Given the description of an element on the screen output the (x, y) to click on. 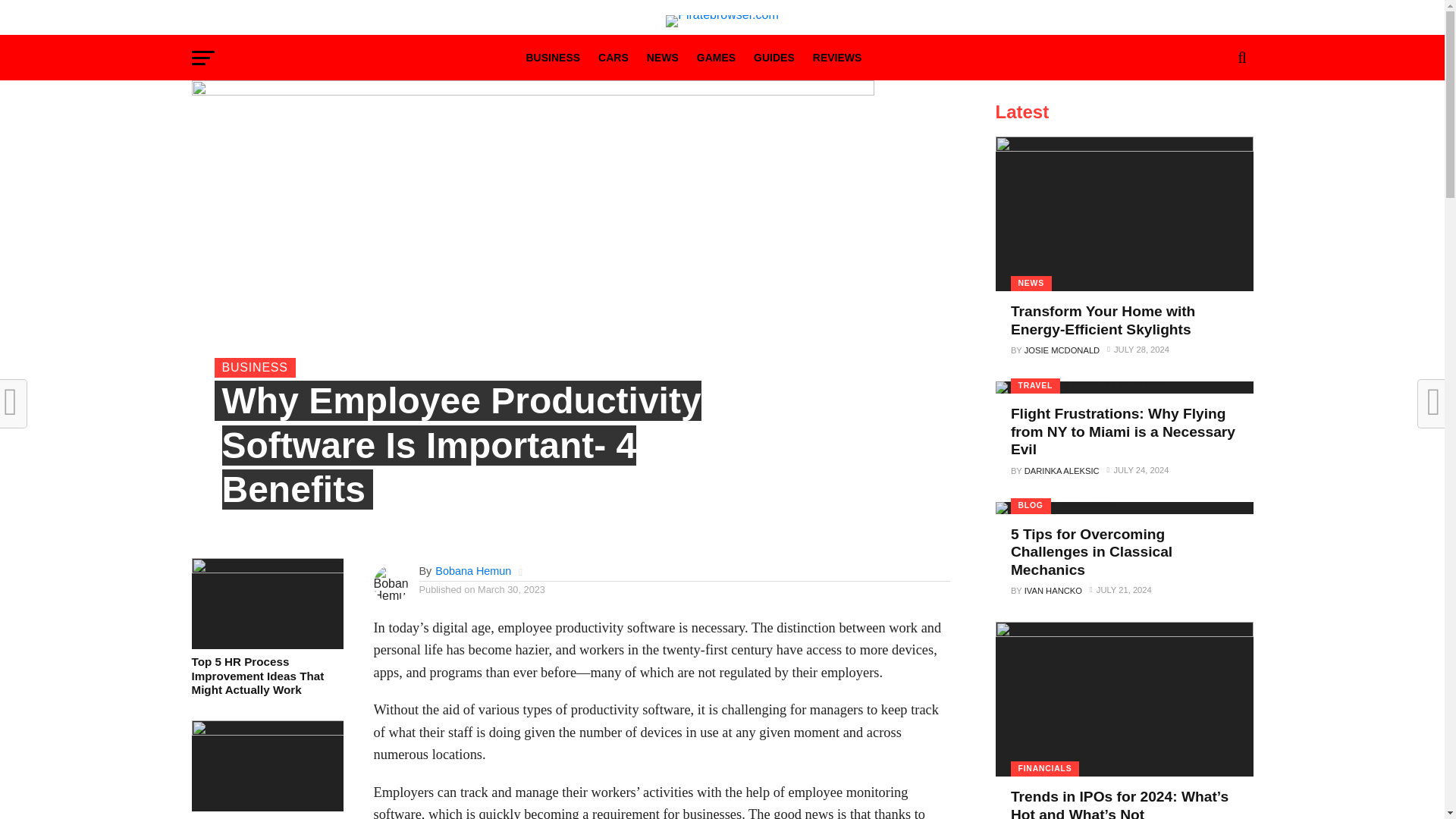
Posts by Darinka Aleksic (1062, 470)
Top 5 HR Process Improvement Ideas That Might Actually Work (266, 676)
GAMES (715, 58)
CARS (613, 58)
REVIEWS (836, 58)
Posts by Bobana Hemun (473, 571)
BUSINESS (552, 58)
Posts by Josie McDonald (1062, 349)
Posts by Ivan Hancko (1053, 590)
Top 5 HR Process Improvement Ideas That Might Actually Work (266, 568)
Which AI Video Creation Software is Right for You? (266, 730)
Bobana Hemun (473, 571)
GUIDES (773, 58)
NEWS (662, 58)
